Given the description of an element on the screen output the (x, y) to click on. 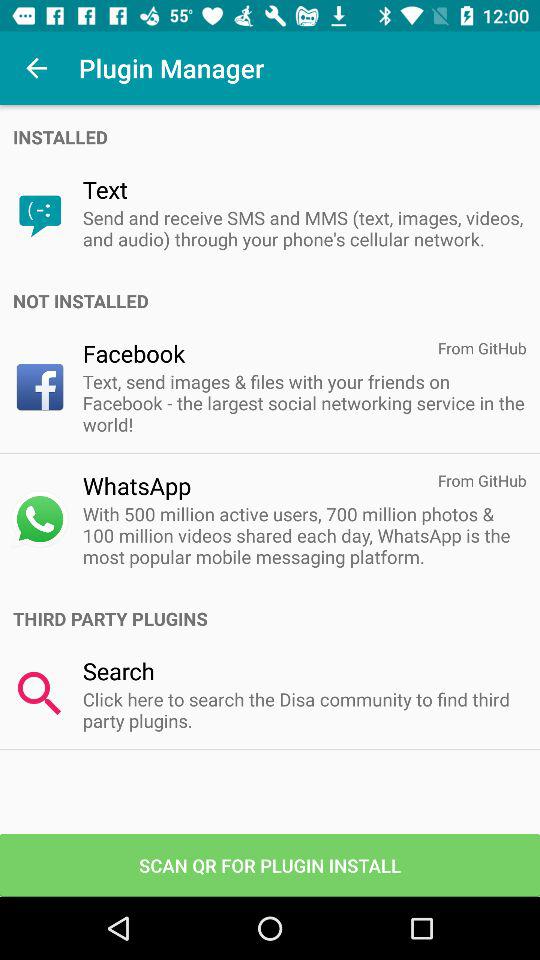
swipe to click here to item (304, 709)
